Given the description of an element on the screen output the (x, y) to click on. 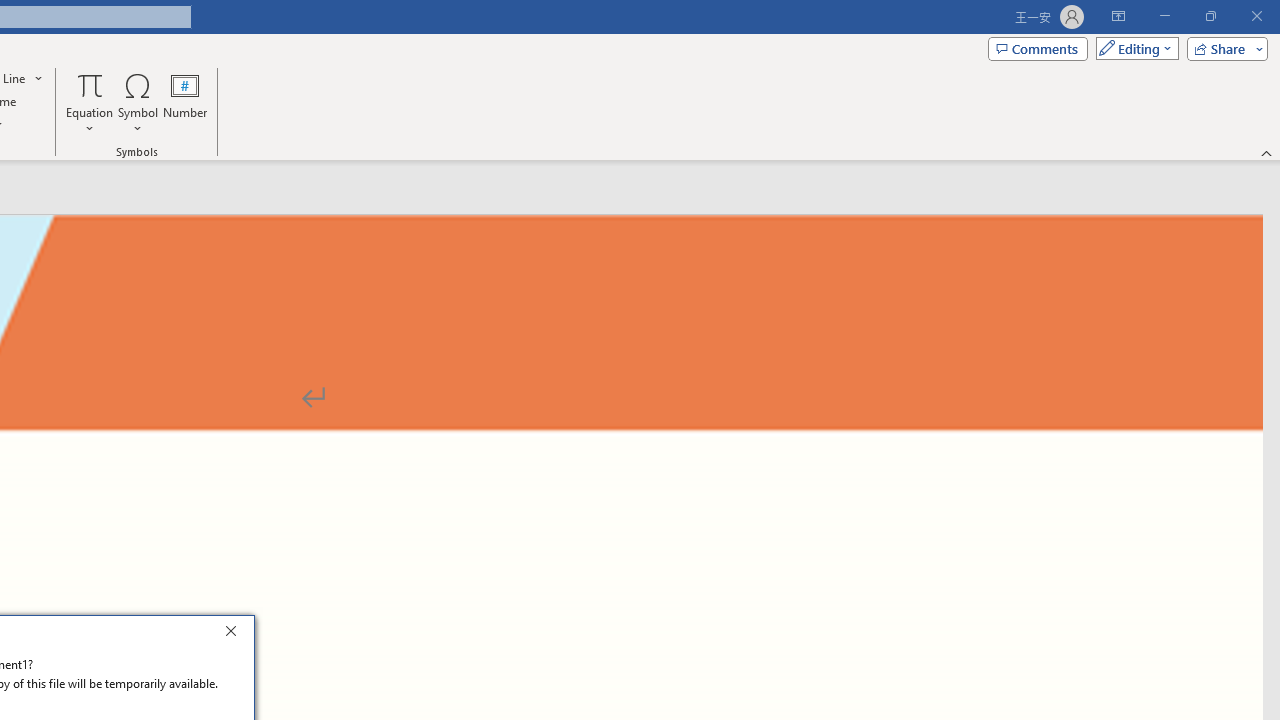
Number... (185, 102)
Symbol (138, 102)
Equation (90, 84)
Equation (90, 102)
